Given the description of an element on the screen output the (x, y) to click on. 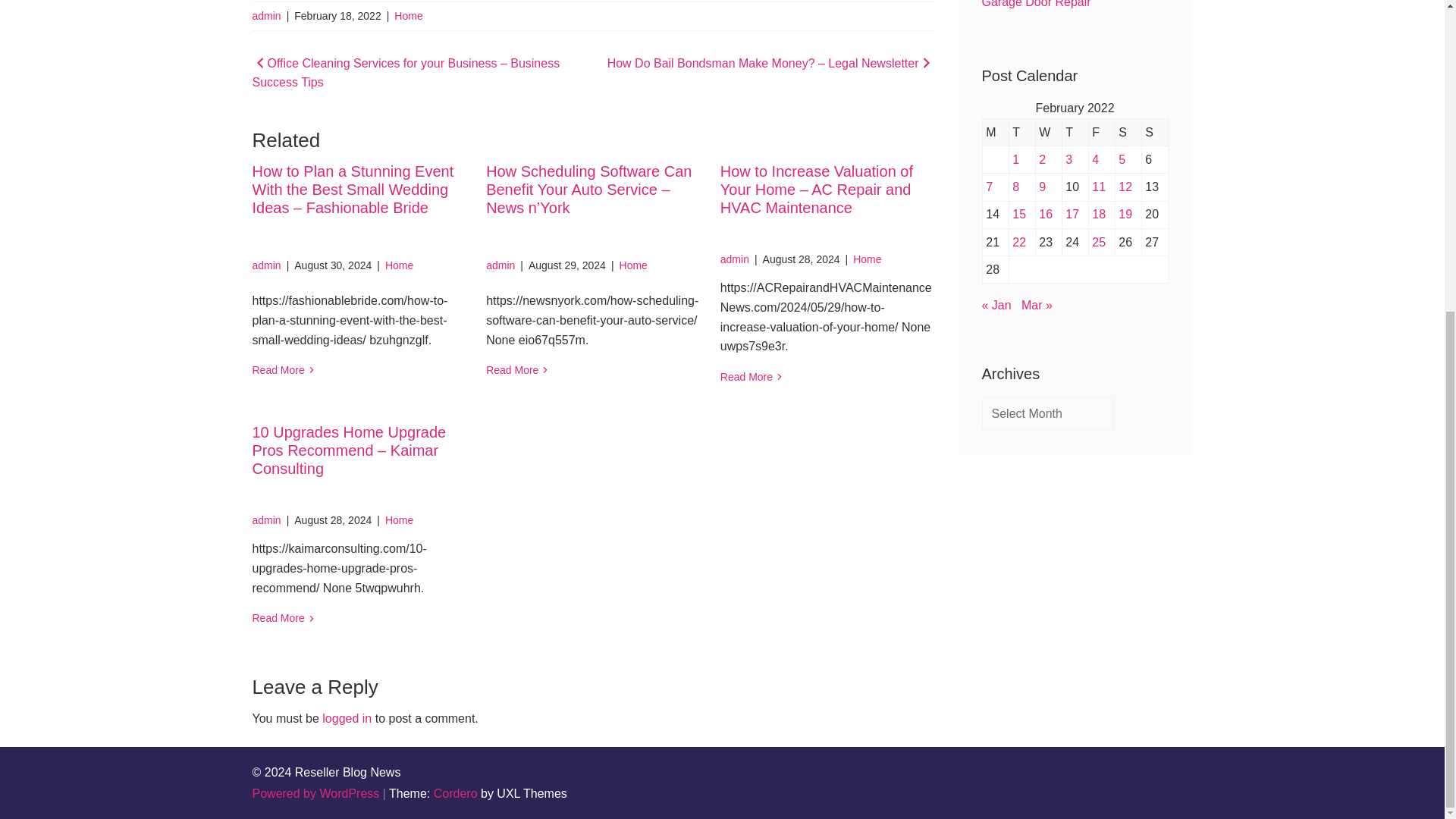
Home (399, 265)
Home (866, 259)
admin (266, 265)
Tuesday (1022, 132)
Thursday (1074, 132)
logged in (346, 717)
admin (500, 265)
Friday (1101, 132)
Read More (358, 369)
Home (399, 520)
